Given the description of an element on the screen output the (x, y) to click on. 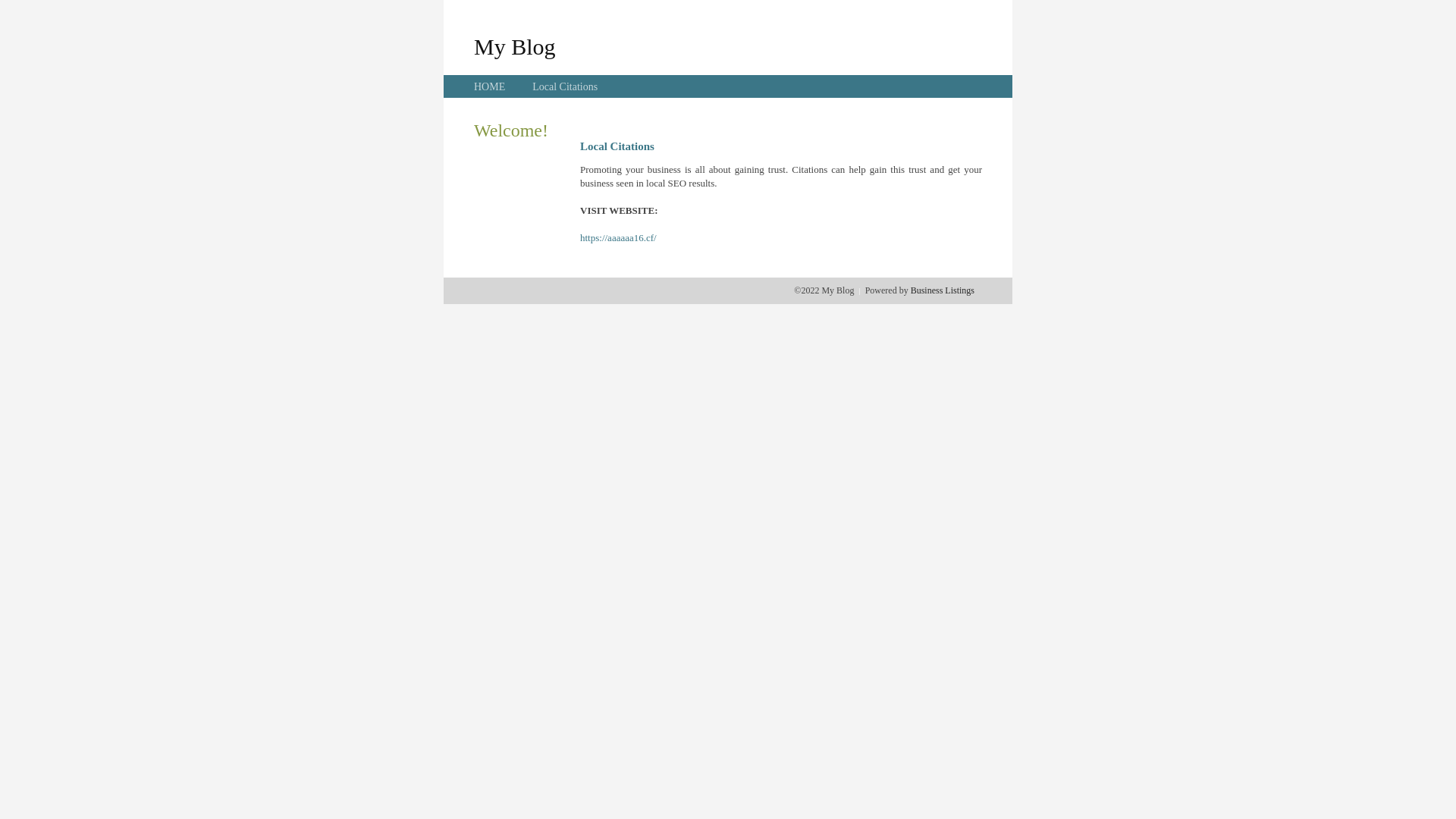
https://aaaaaa16.cf/ Element type: text (618, 237)
My Blog Element type: text (514, 46)
HOME Element type: text (489, 86)
Local Citations Element type: text (564, 86)
Business Listings Element type: text (942, 290)
